Given the description of an element on the screen output the (x, y) to click on. 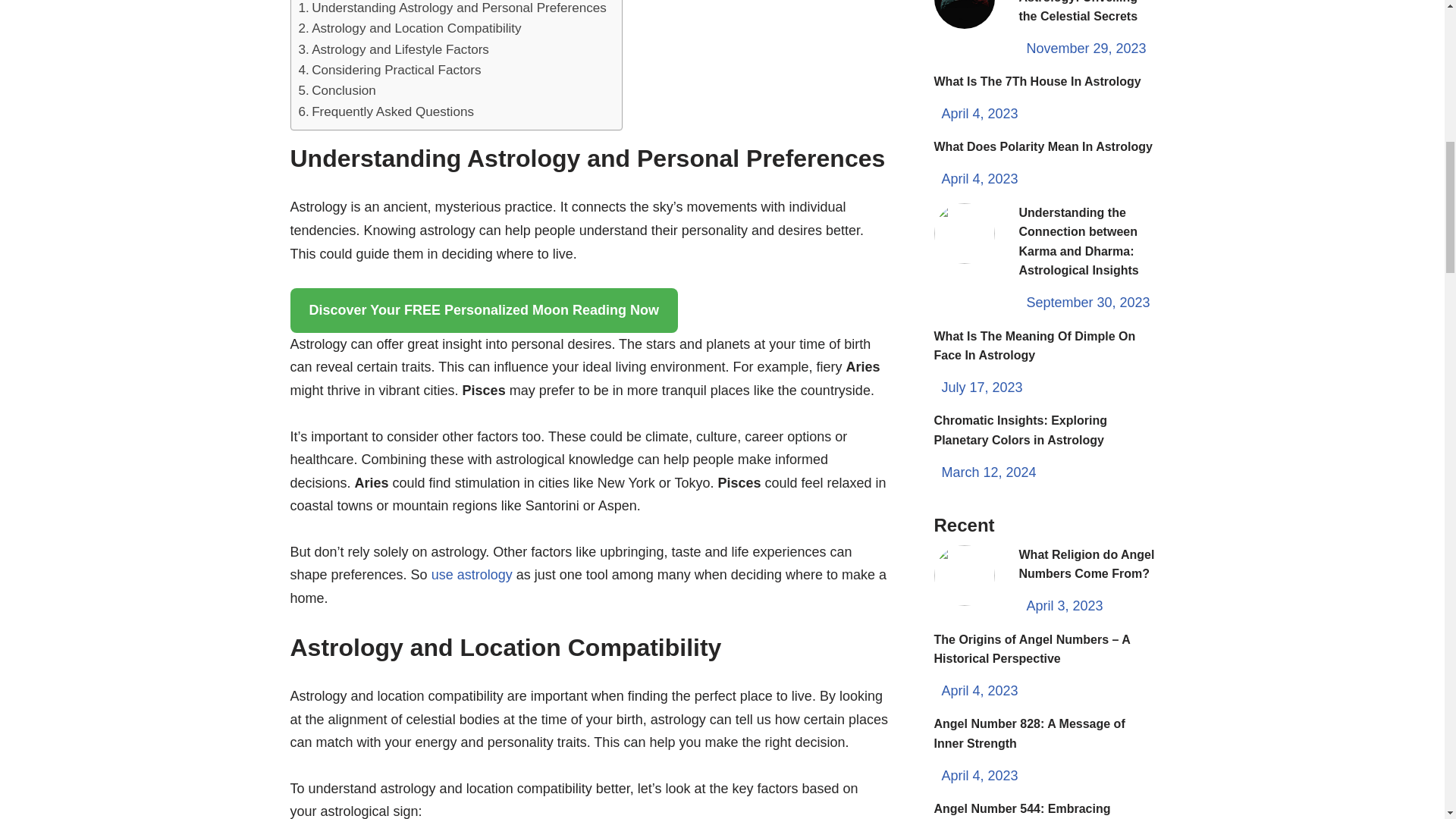
Conclusion (336, 90)
Conclusion (336, 90)
Understanding Astrology and Personal Preferences (452, 9)
Astrology and Lifestyle Factors (393, 49)
Discover Your FREE Personalized Moon Reading Now (483, 310)
Frequently Asked Questions (386, 111)
Understanding Astrology and Personal Preferences (452, 9)
Astrology and Lifestyle Factors (393, 49)
Astrology and Location Compatibility (409, 28)
Considering Practical Factors (389, 69)
Astrology and Location Compatibility (409, 28)
use astrology (471, 574)
Considering Practical Factors (389, 69)
Frequently Asked Questions (386, 111)
use astrology (471, 574)
